Given the description of an element on the screen output the (x, y) to click on. 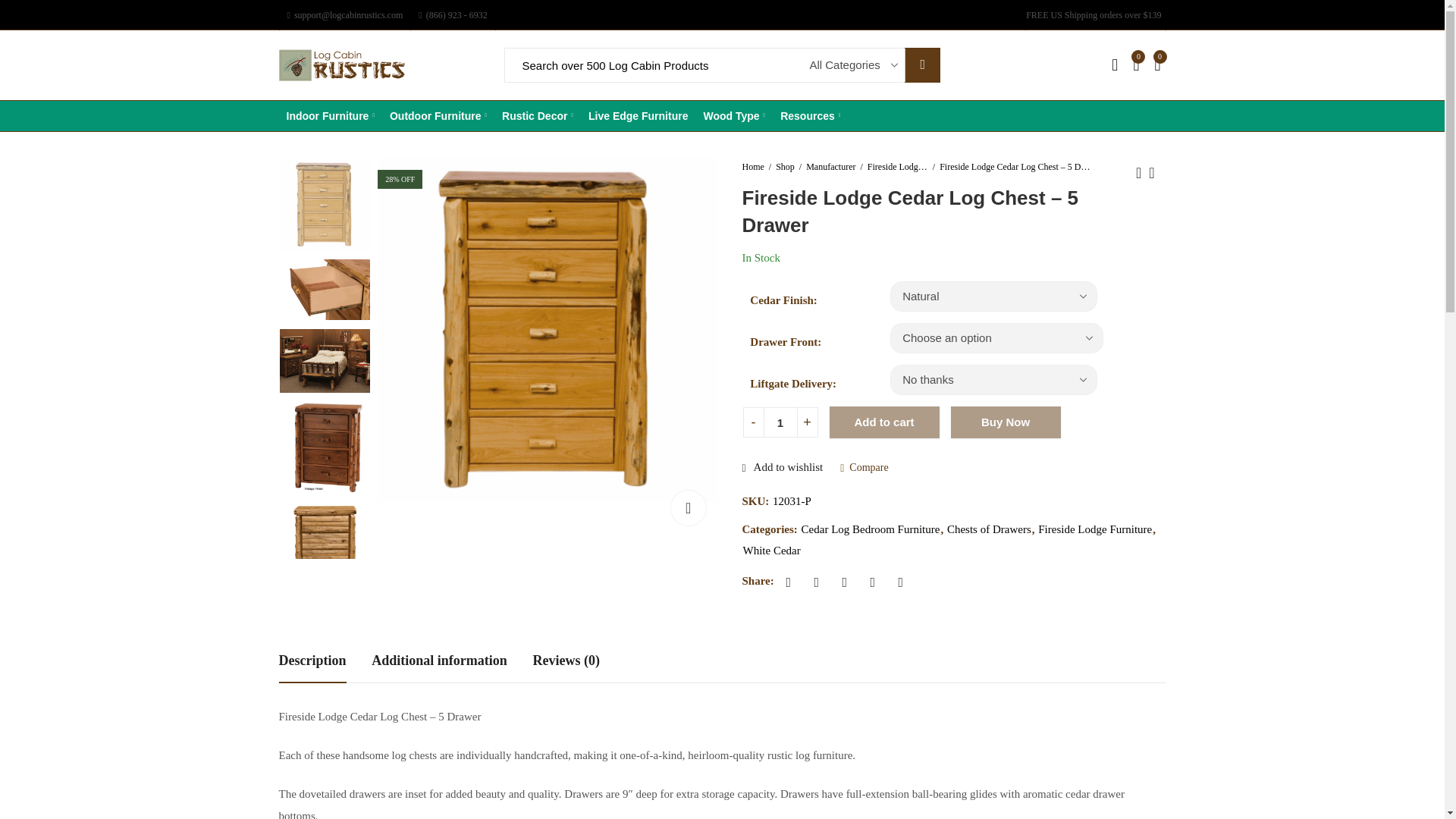
1 (779, 422)
Fireside Lodge Cedar Log Chest - 5 Drawer 1 (324, 204)
Fireside Lodge Cedar Log Chest - 5 Drawer 3 (324, 361)
Fireside Lodge Cedar Log Chest - 5 Drawer 4 (324, 447)
Fireside Lodge Cedar Log Chest - 5 Drawer 2 (324, 289)
Indoor Furniture (330, 115)
Search (922, 64)
Fireside Lodge Cedar Log Chest - 5 Drawer 5 (324, 547)
Fireside-Lodge-Cedar-Log-Chest-5-Drawer-34 (548, 330)
Qty (779, 422)
